Given the description of an element on the screen output the (x, y) to click on. 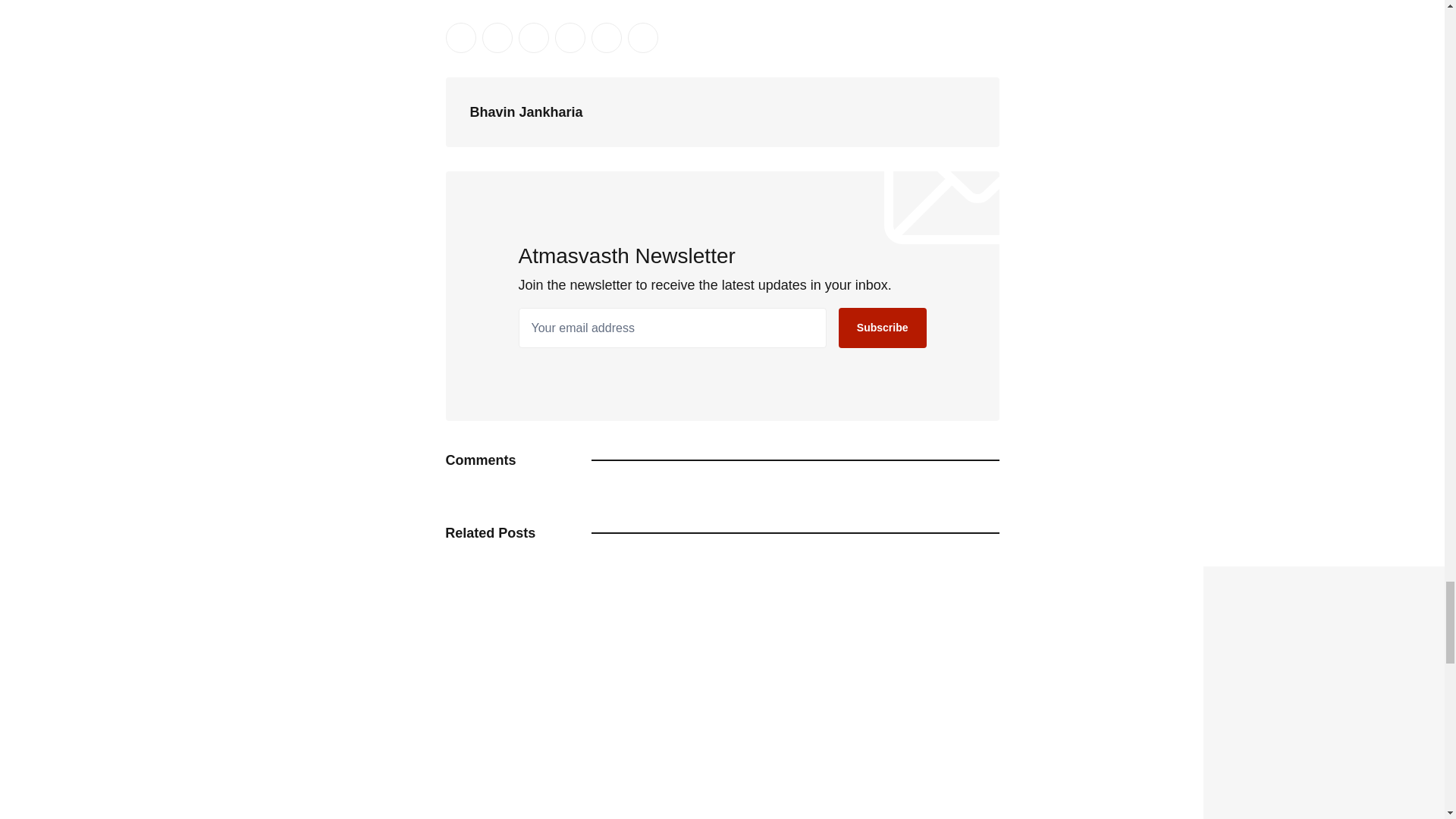
Share via Email (606, 37)
Share on Facebook (496, 37)
Copy link (642, 37)
Share on Twitter (460, 37)
Share on Pinterest (569, 37)
Share on LinkedIn (533, 37)
